Given the description of an element on the screen output the (x, y) to click on. 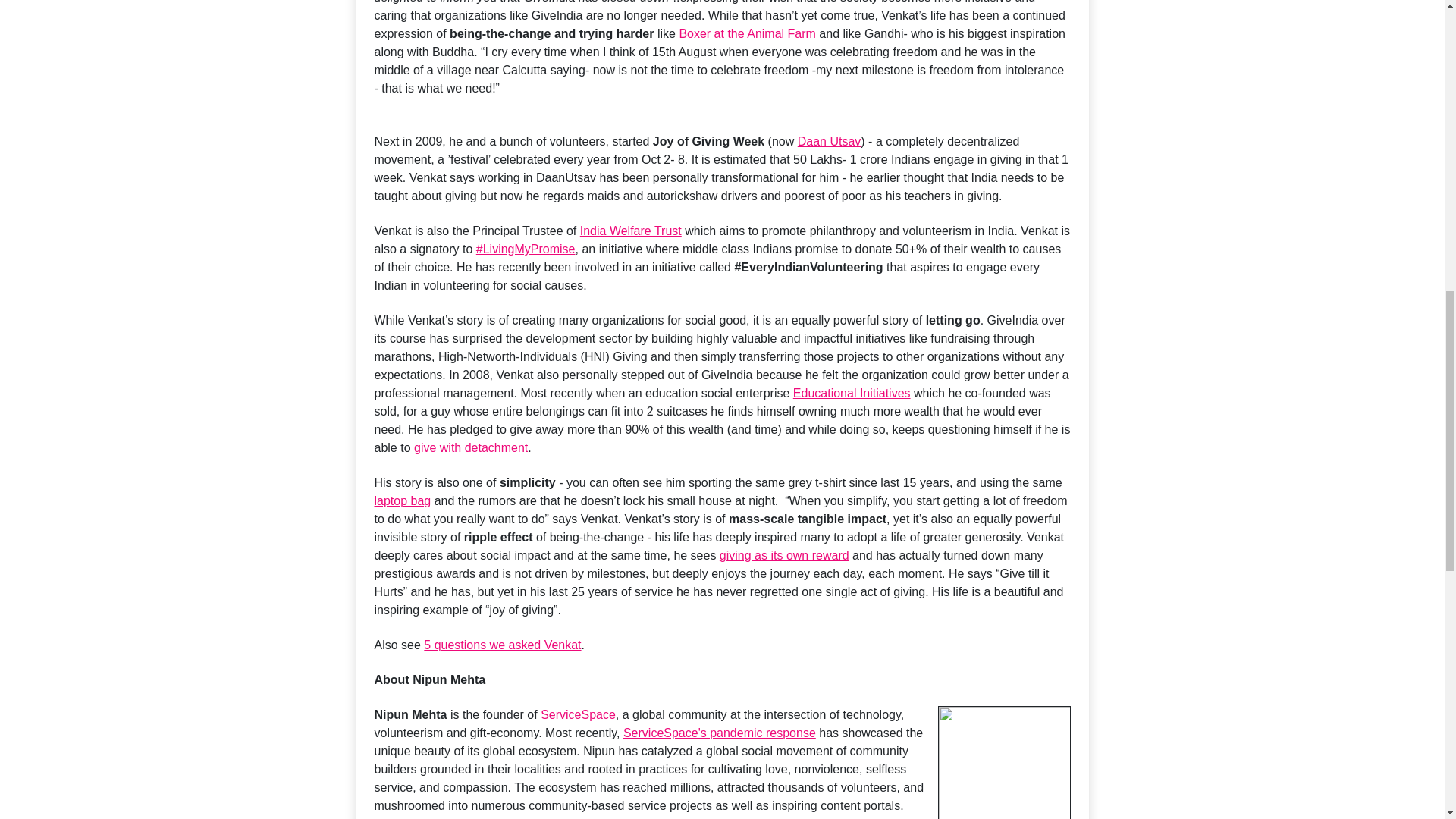
ServiceSpace's pandemic response (719, 732)
laptop bag (402, 500)
5 questions we asked Venkat (501, 644)
give with detachment (470, 447)
Daan Utsav (829, 141)
ServiceSpace (577, 714)
India Welfare Trust (630, 230)
Boxer at the Animal Farm (746, 33)
giving as its own reward (783, 554)
Educational Initiatives (852, 392)
